Given the description of an element on the screen output the (x, y) to click on. 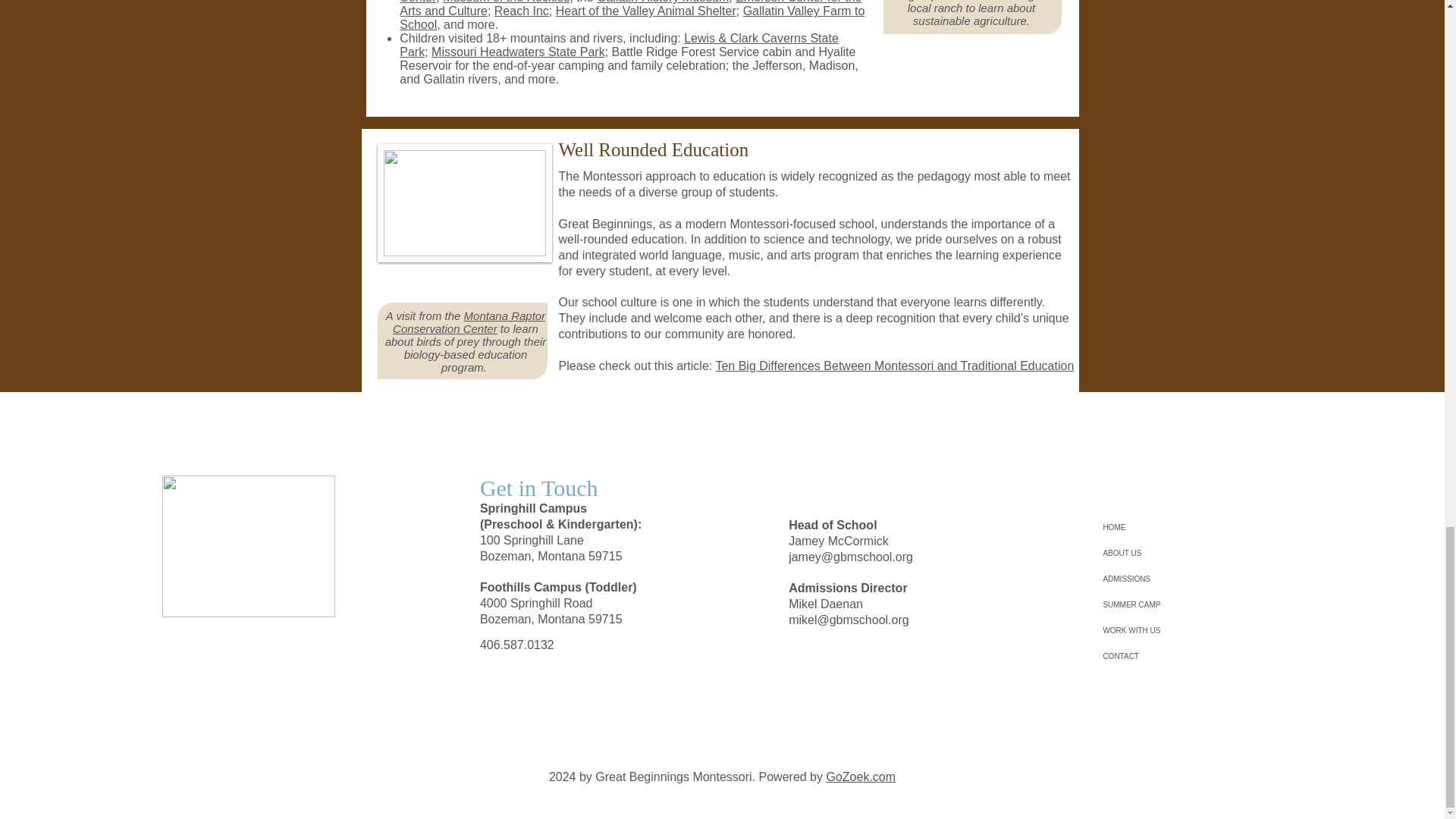
Missouri Headwaters State Park (517, 51)
CONTACT (1166, 656)
Museum of the Rockies (505, 2)
ABOUT US (1166, 553)
Montana Raptor Conservation Center (468, 321)
Heart of the Valley Animal Shelter (646, 10)
SUMMER CAMP (1166, 605)
HOME (1166, 527)
Gallatin History Museum (662, 2)
Gallatin Valley Farm to School (631, 17)
ADMISSIONS (1166, 579)
GoZoek.com (860, 776)
Emerson Center for the Arts and Culture (629, 8)
